Given the description of an element on the screen output the (x, y) to click on. 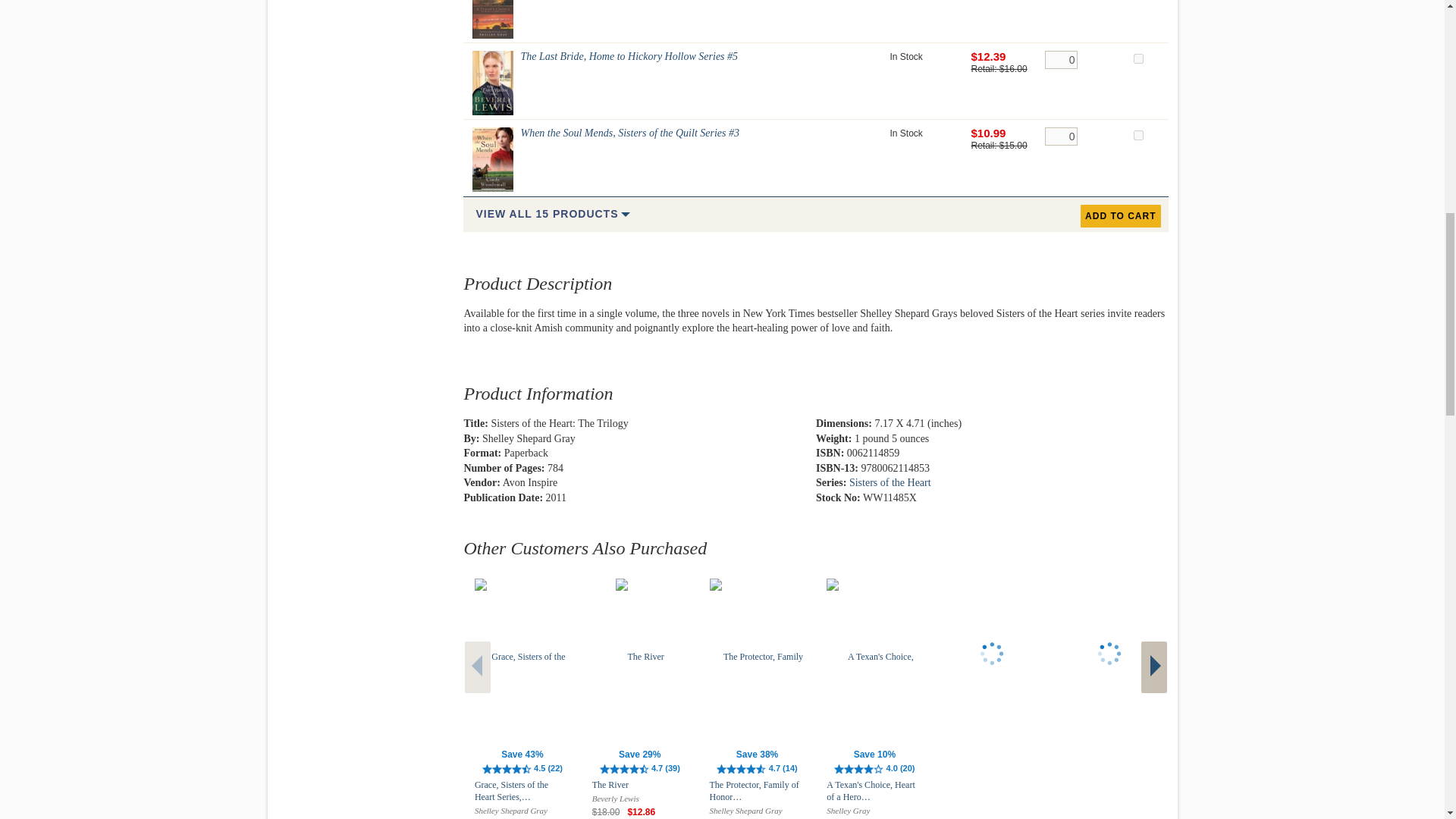
0 (1061, 136)
072940 (1137, 135)
0 (1061, 59)
211980 (1137, 58)
